Given the description of an element on the screen output the (x, y) to click on. 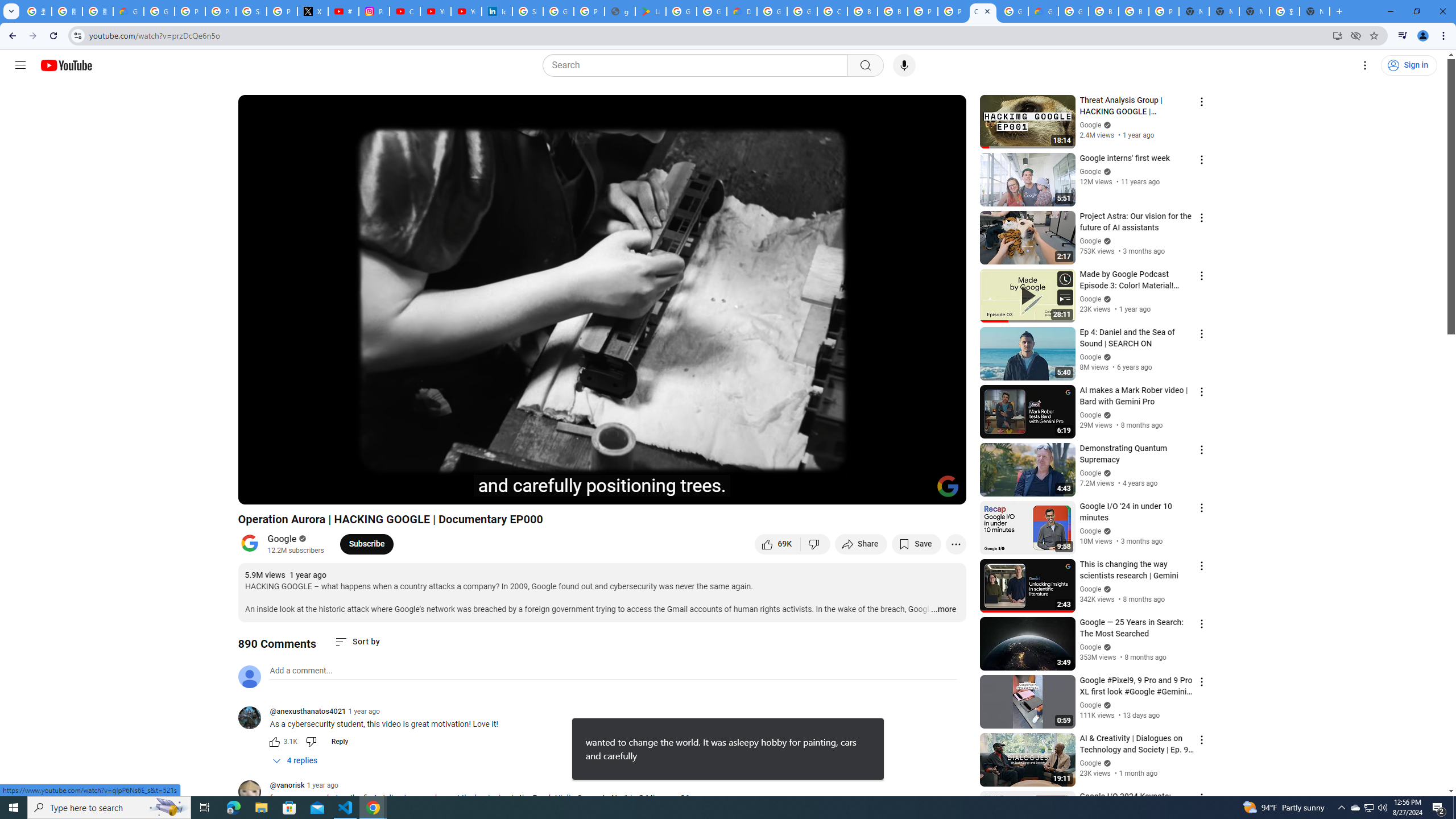
New Tab (1314, 11)
Guide (20, 65)
Dislike this video (815, 543)
Full screen keyboard shortcut f (945, 490)
YouTube Culture & Trends - YouTube Top 10, 2021 (465, 11)
